Given the description of an element on the screen output the (x, y) to click on. 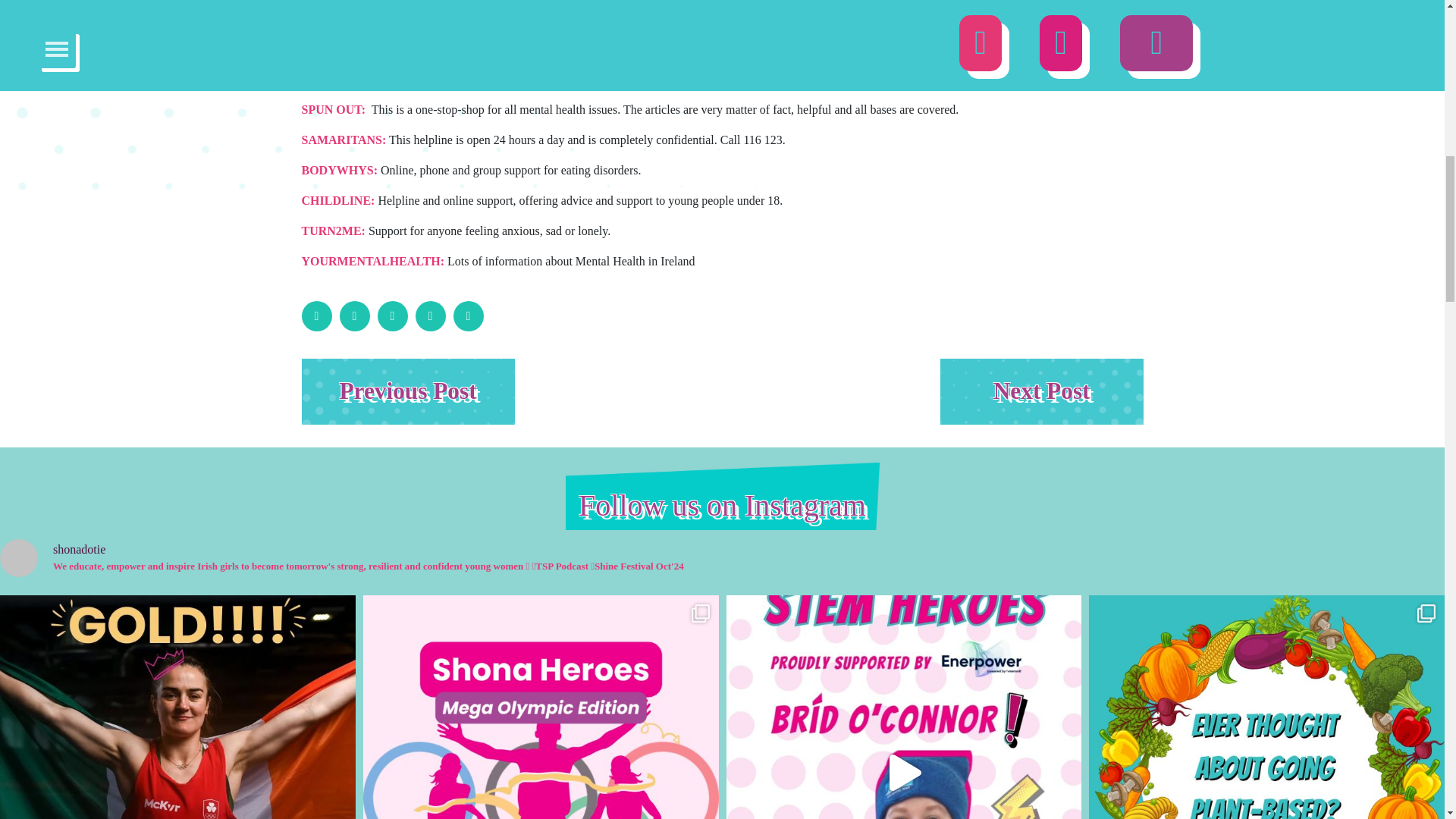
Share on Facebook (354, 316)
SPUN OUT: (333, 109)
Share on Twitter (316, 316)
Share on LinkedIn (467, 316)
Share on Pinterest (429, 316)
